Given the description of an element on the screen output the (x, y) to click on. 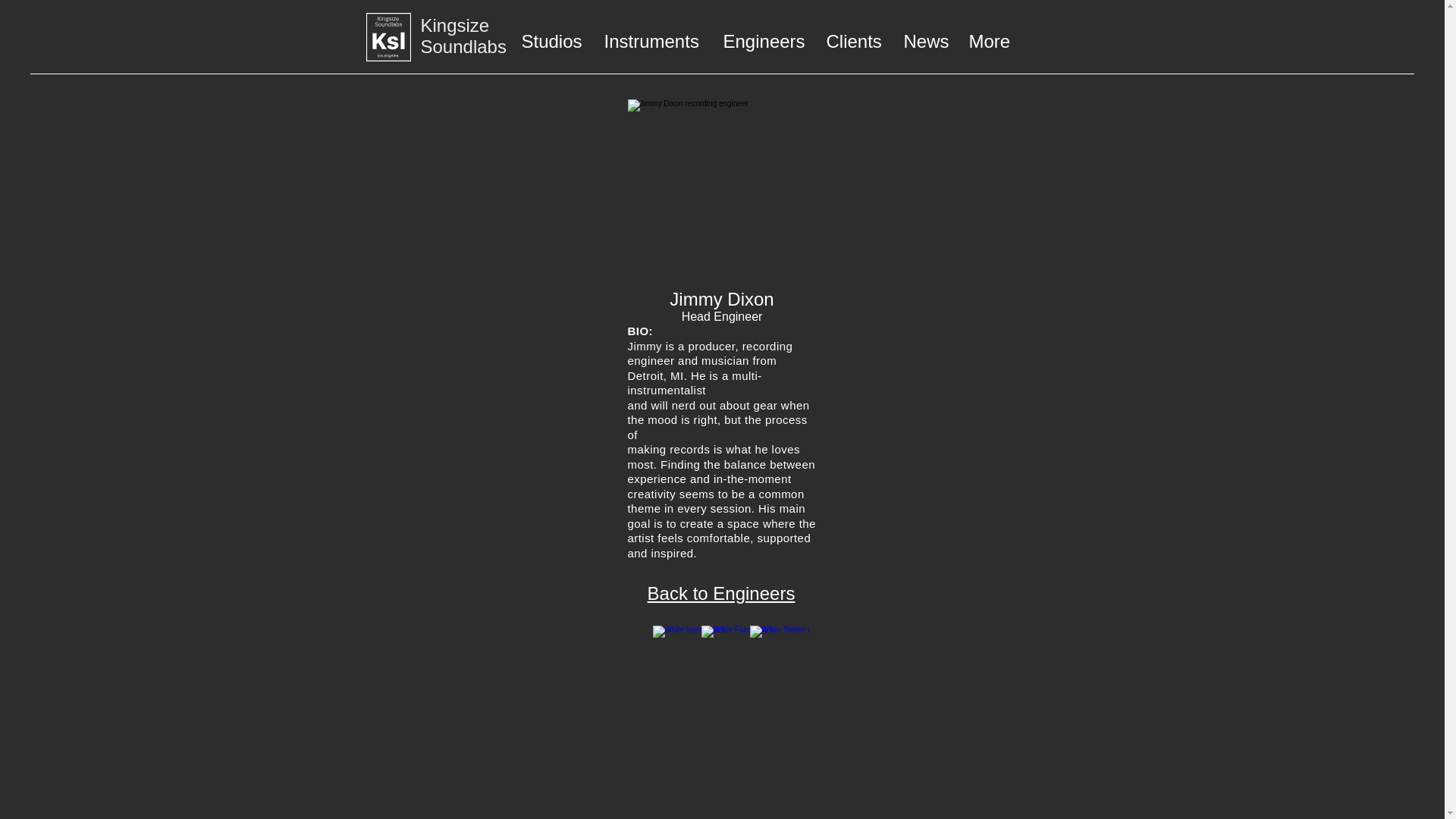
Instruments (651, 41)
Back to Engineers (720, 593)
Kingsize Soundlabs (462, 35)
News (923, 41)
Engineers (762, 41)
Clients (852, 41)
